Given the description of an element on the screen output the (x, y) to click on. 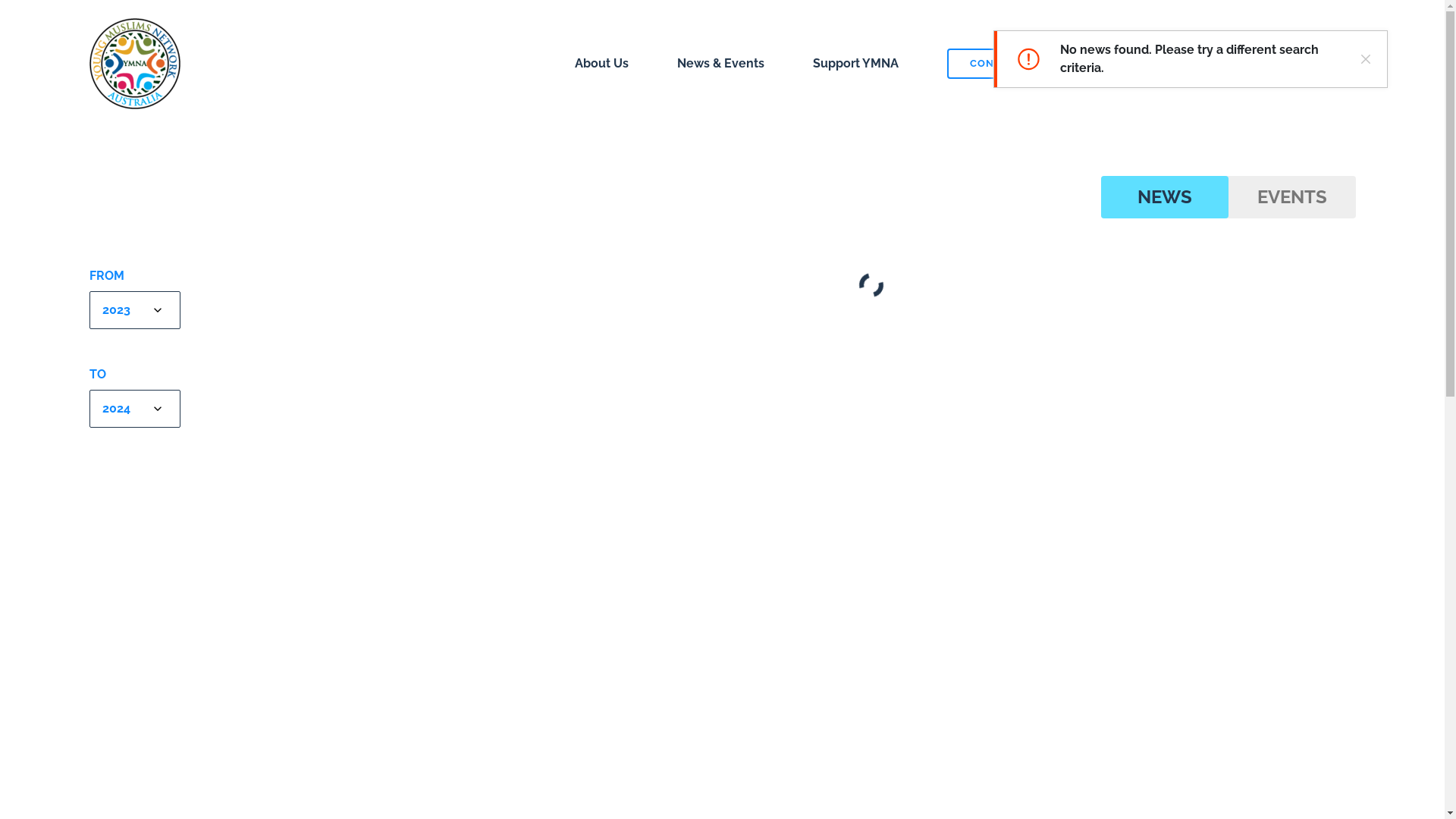
VOLUNTEER Element type: text (1167, 63)
CONTACT US Element type: text (1004, 63)
News & Events Element type: text (719, 63)
Support YMNA Element type: text (855, 63)
About Us Element type: text (601, 63)
